Given the description of an element on the screen output the (x, y) to click on. 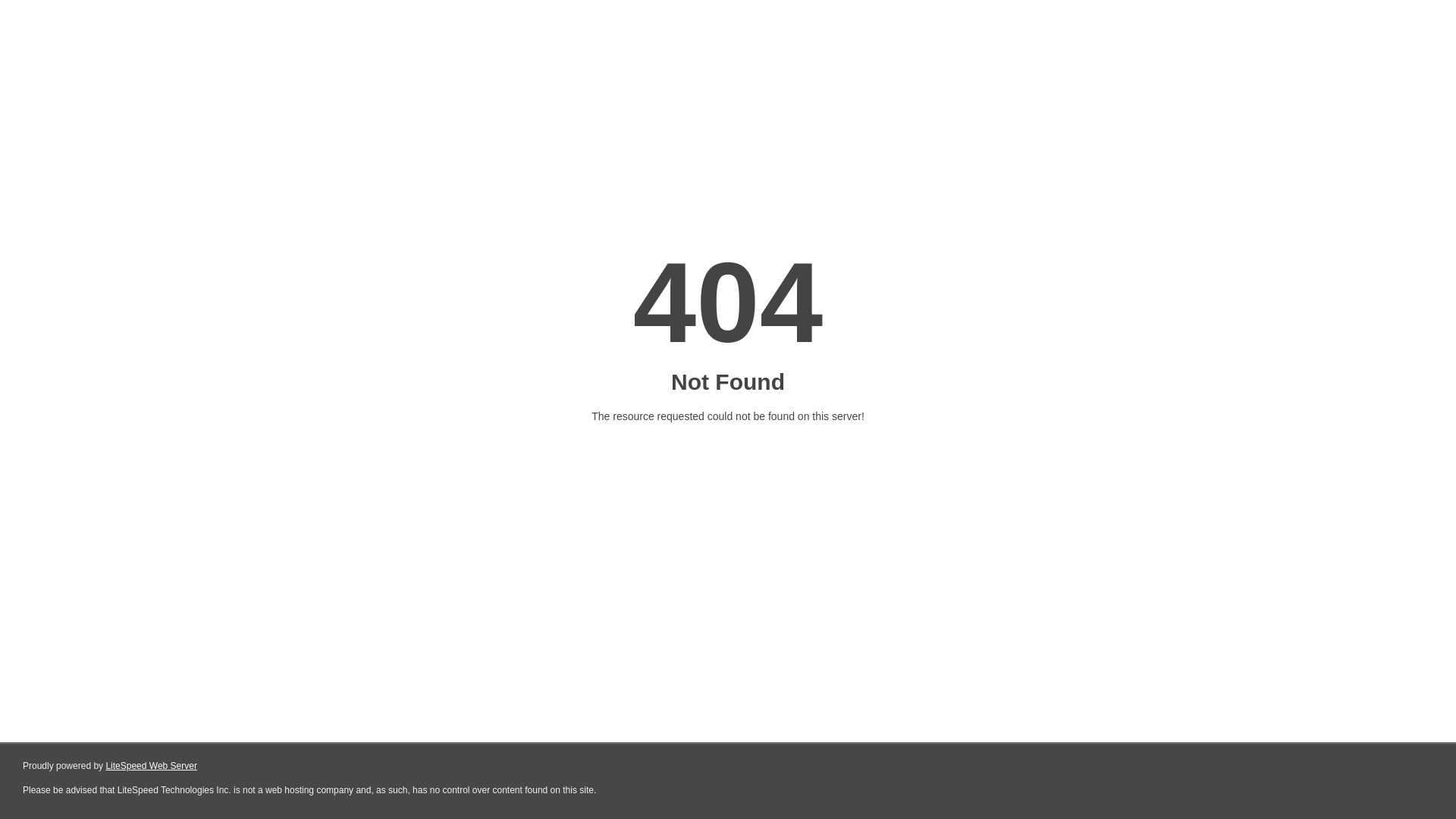
LiteSpeed Web Server Element type: text (151, 765)
